Given the description of an element on the screen output the (x, y) to click on. 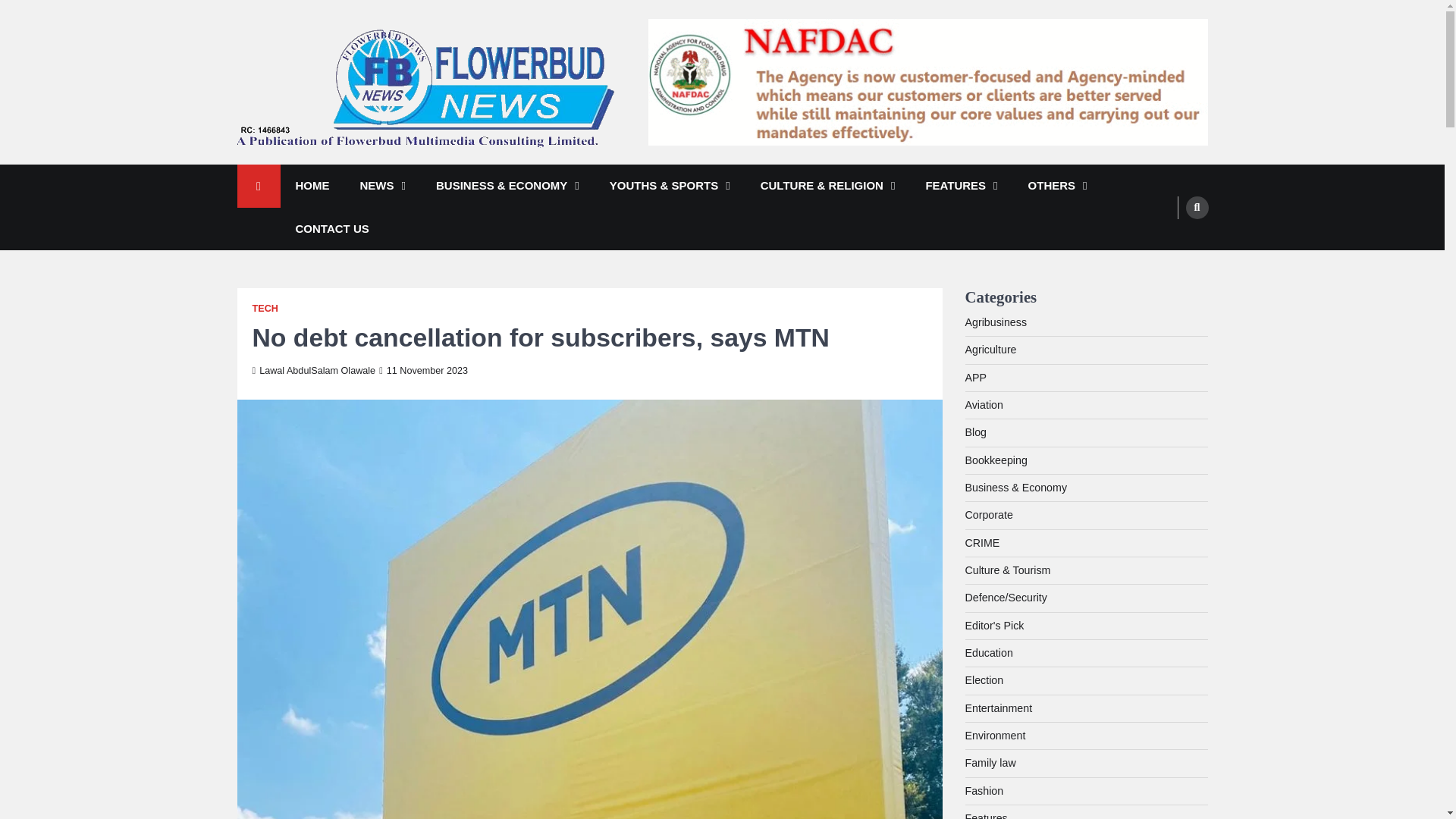
Search (1197, 206)
flowerbudnews.ng (335, 168)
FEATURES (960, 186)
HOME (313, 186)
NEWS (381, 186)
OTHERS (1057, 186)
